Given the description of an element on the screen output the (x, y) to click on. 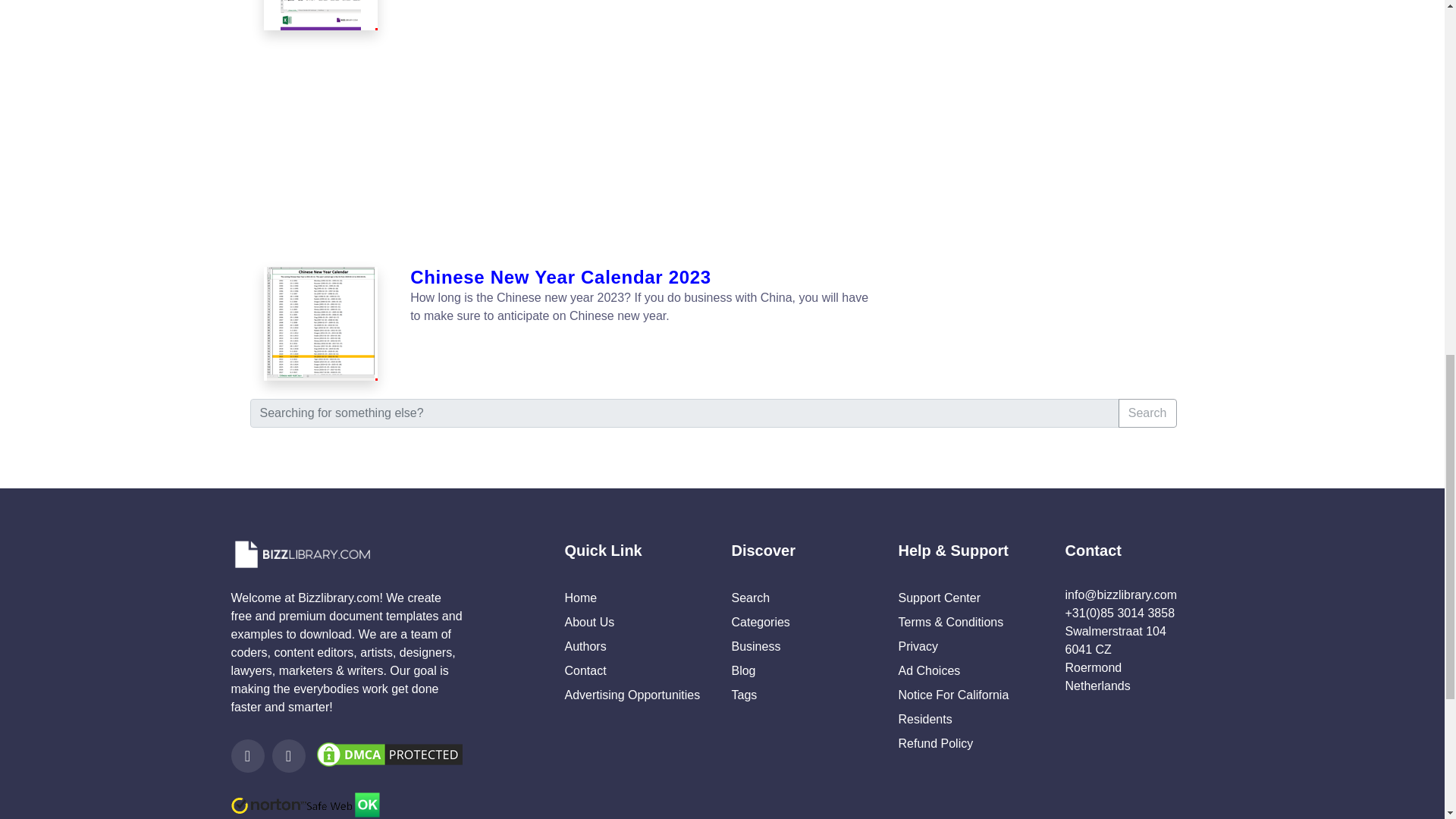
Ad Choices (928, 670)
Categories (759, 621)
Advertising Opportunities (632, 694)
Notice For California Residents (953, 706)
Support Center (938, 597)
Contact (584, 670)
Chinese Zodiac Year (321, 15)
About Us (589, 621)
Refund Policy (935, 743)
Privacy (917, 645)
Search (1147, 412)
Blog (742, 670)
Chinese New Year Calendar 2023 (641, 277)
Search (750, 597)
Home (580, 597)
